Given the description of an element on the screen output the (x, y) to click on. 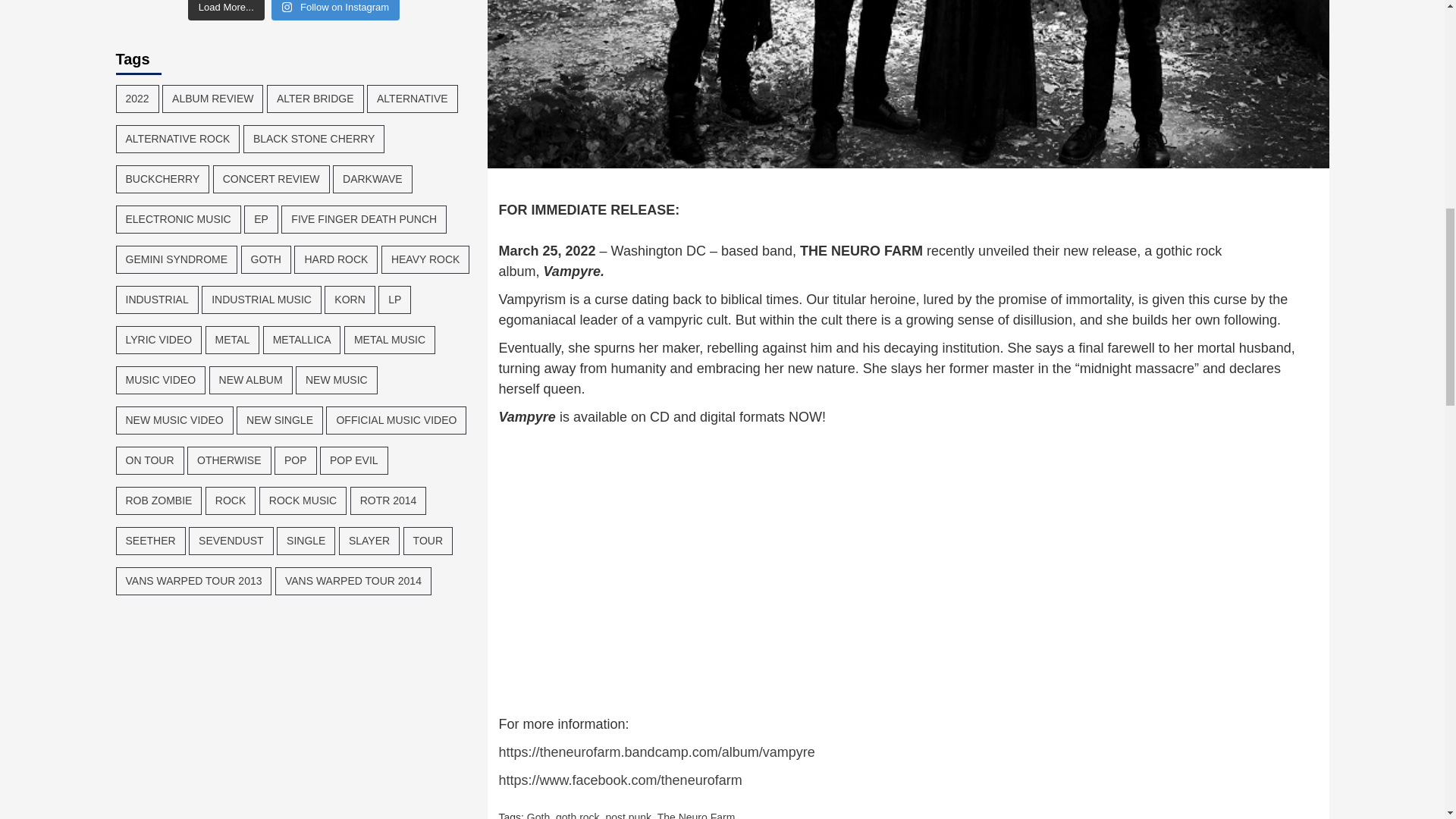
The Neuro Farm (696, 815)
Goth (538, 815)
post punk (627, 815)
goth rock (577, 815)
